Given the description of an element on the screen output the (x, y) to click on. 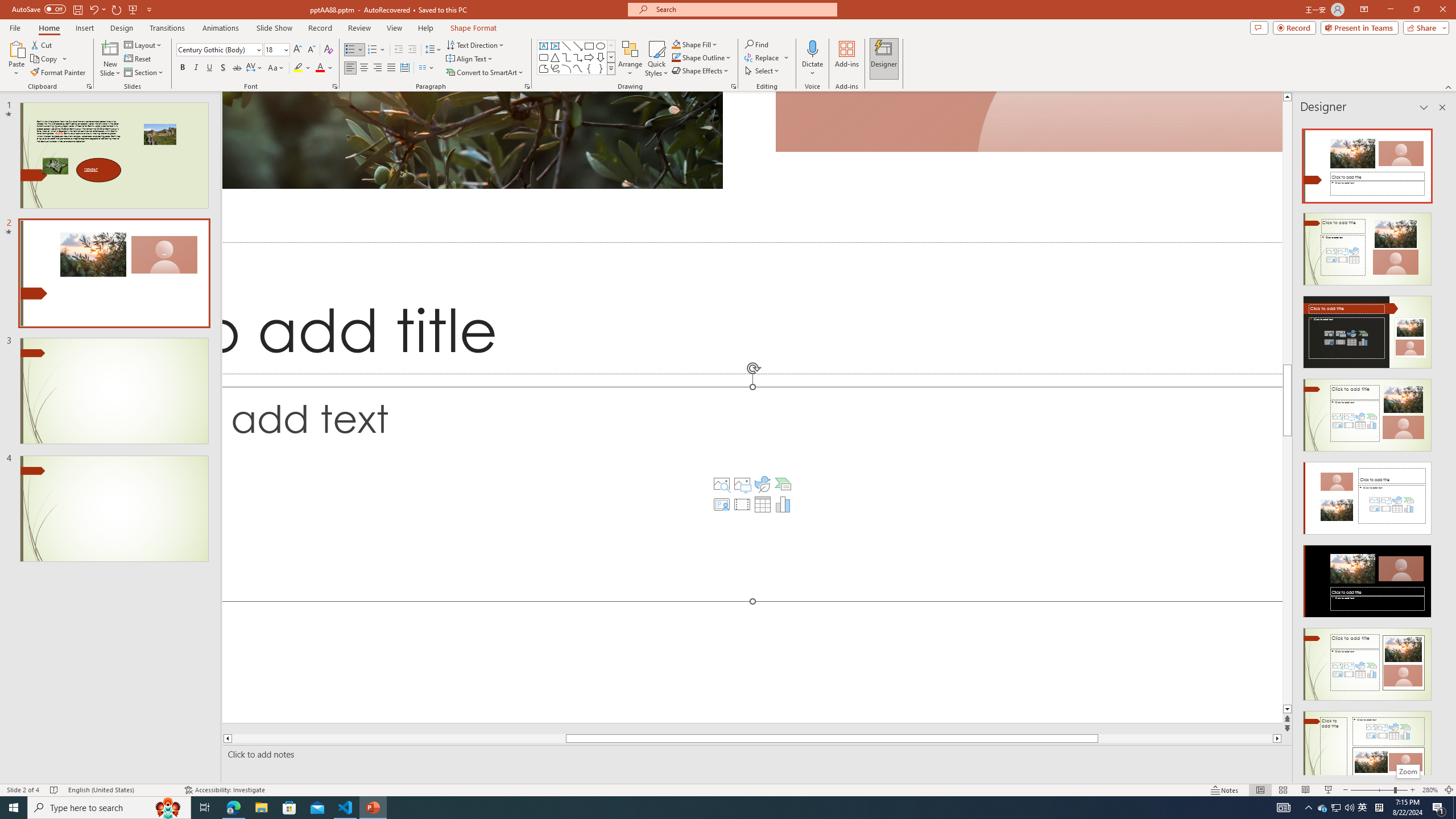
Arc (566, 68)
Title TextBox (752, 308)
More Options (812, 68)
Slide Sorter (1282, 790)
Slide (114, 508)
Font Size (276, 49)
Stock Images (720, 484)
Close up of an olive branch on a sunset (472, 140)
Shape Fill Aqua, Accent 2 (675, 44)
Quick Access Toolbar (82, 9)
Quick Styles (656, 58)
Restore Down (1416, 9)
Select (762, 69)
Line Arrow (577, 45)
